Given the description of an element on the screen output the (x, y) to click on. 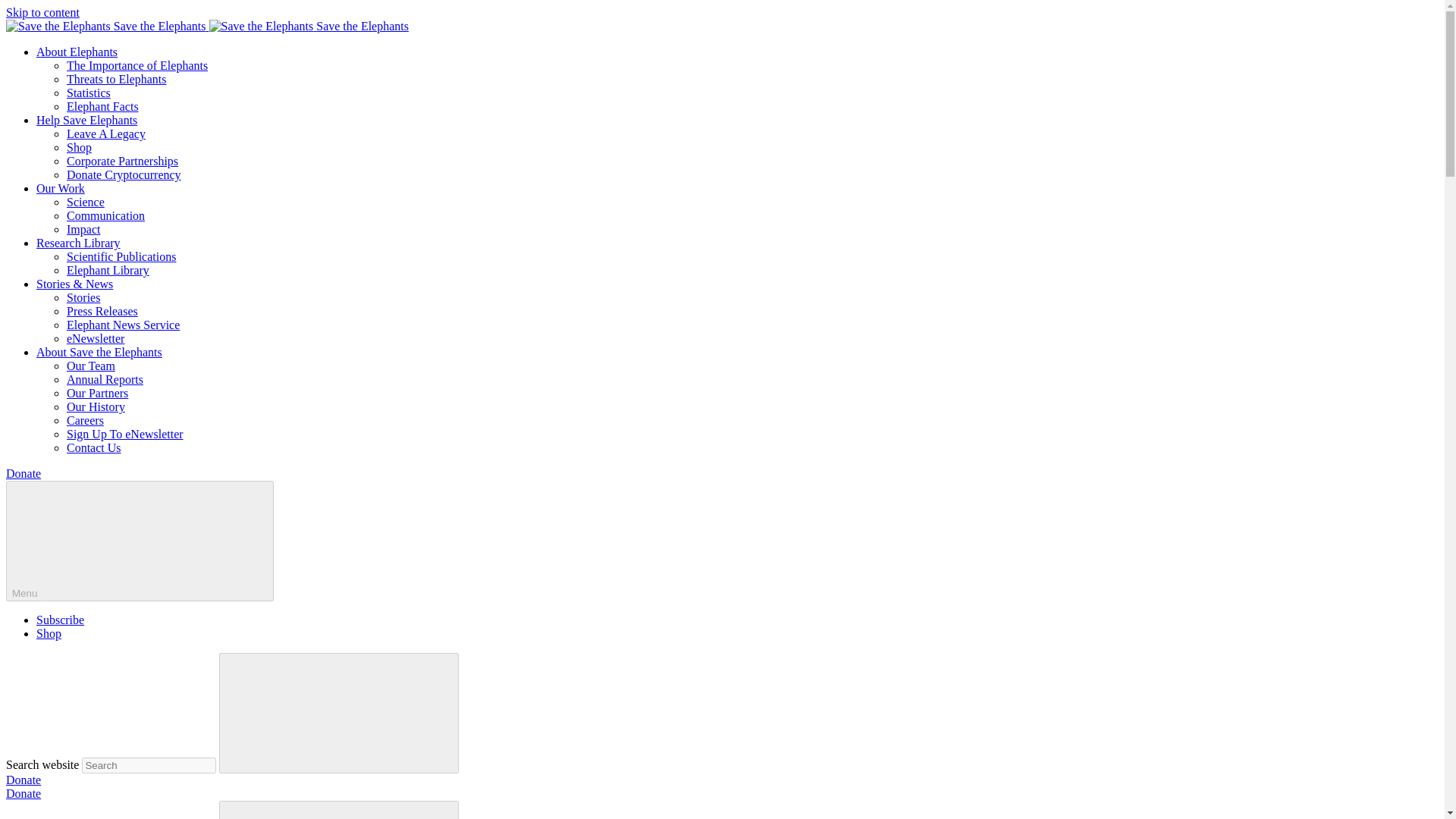
Save the Elephants (309, 25)
Donate (22, 793)
Leave A Legacy (105, 133)
Search submit (338, 809)
Stories (83, 297)
Donate (22, 472)
The Importance of Elephants (137, 65)
Communication (105, 215)
Careers (84, 420)
Elephant News Service (122, 324)
